Given the description of an element on the screen output the (x, y) to click on. 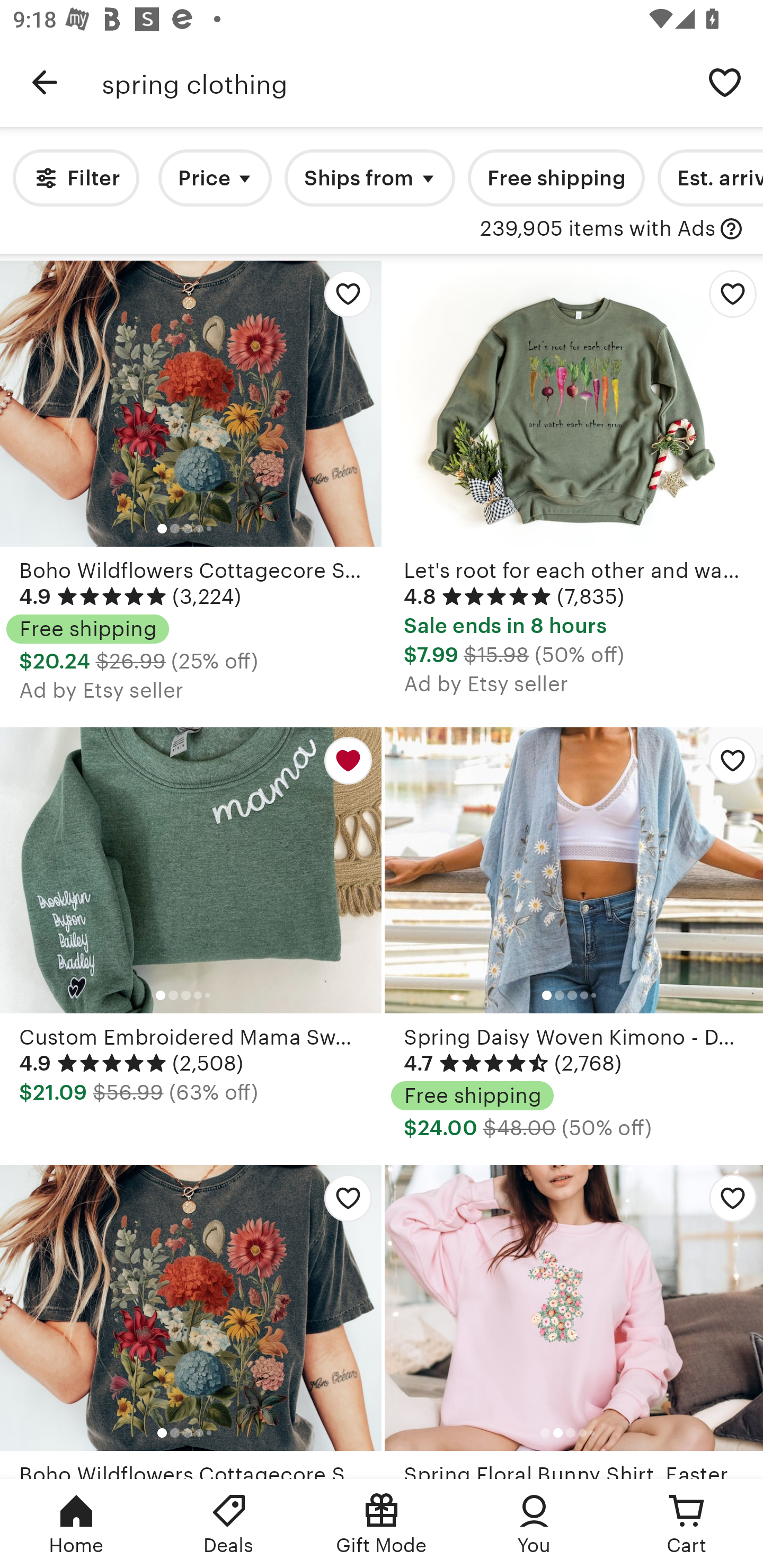
Navigate up (44, 82)
Save search (724, 81)
spring clothing (393, 82)
Filter (75, 177)
Price (214, 177)
Ships from (369, 177)
Free shipping (555, 177)
239,905 items with Ads (597, 228)
with Ads (730, 228)
Deals (228, 1523)
Gift Mode (381, 1523)
You (533, 1523)
Cart (686, 1523)
